Given the description of an element on the screen output the (x, y) to click on. 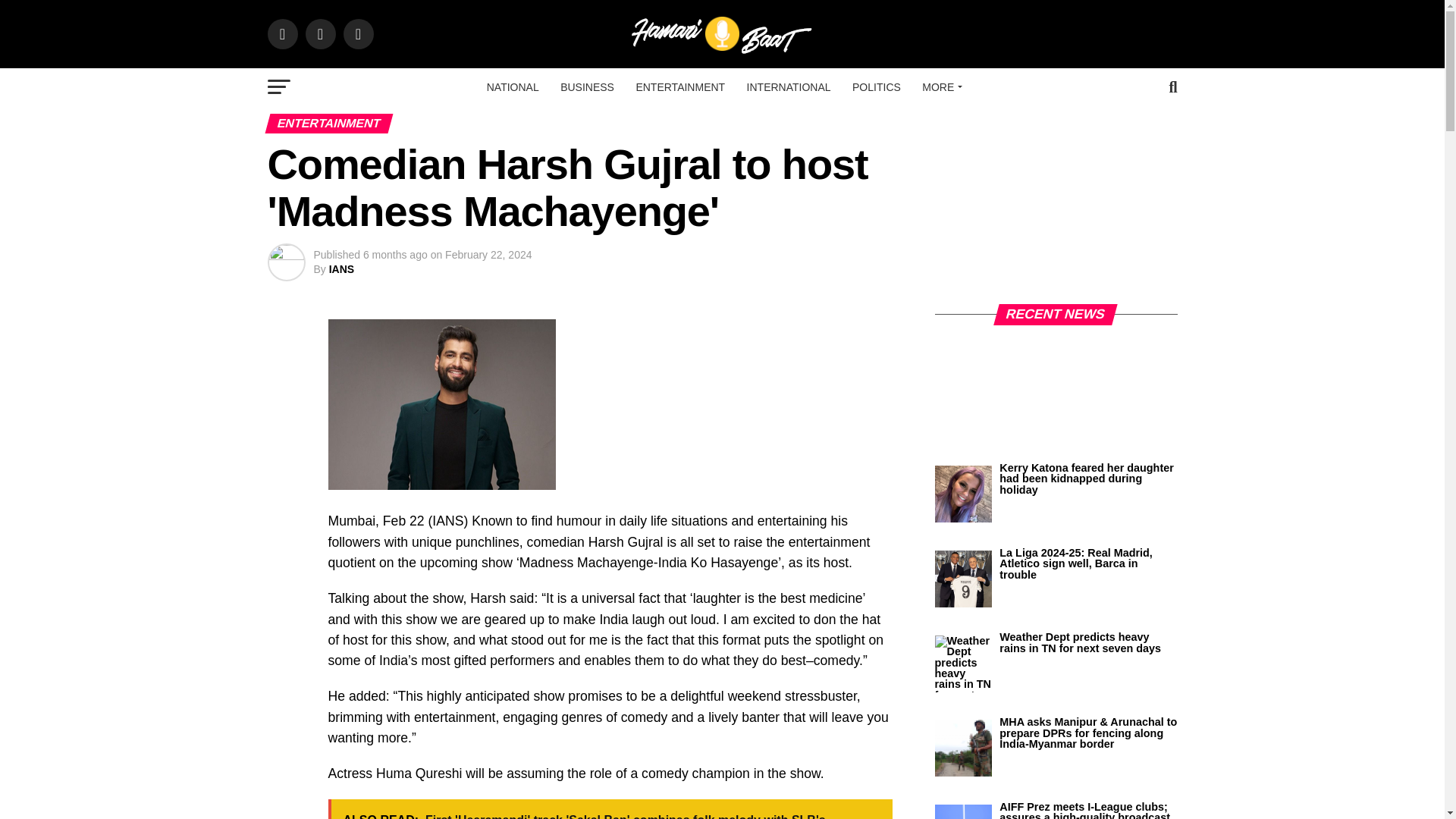
ENTERTAINMENT (679, 86)
INTERNATIONAL (789, 86)
BUSINESS (587, 86)
NATIONAL (512, 86)
